Given the description of an element on the screen output the (x, y) to click on. 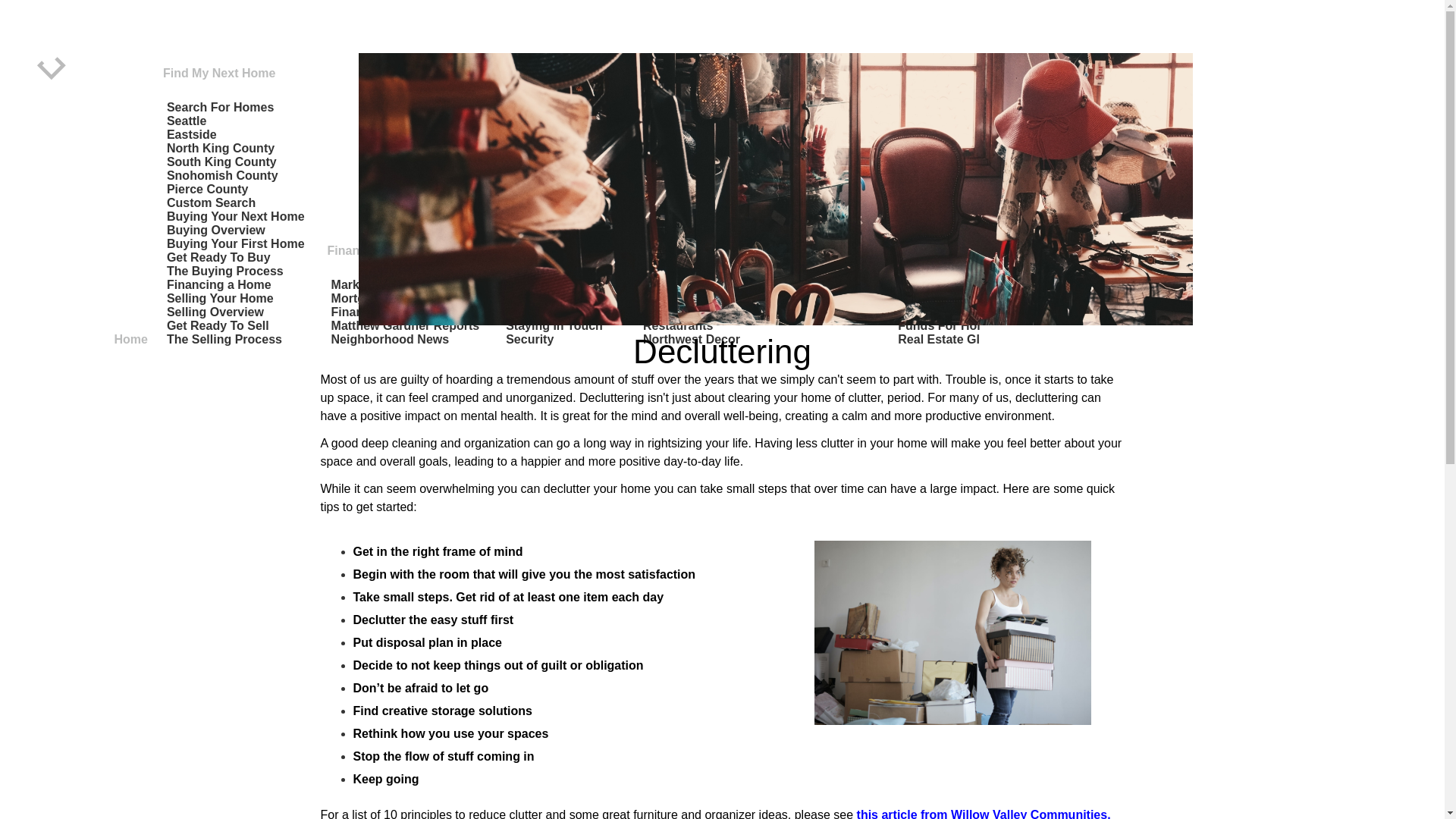
Interesting Things To Do in Washington (758, 312)
Seattle (188, 120)
North King County (222, 148)
Staying In Touch (556, 325)
Explore Washington (702, 284)
Search For Homes (221, 107)
Home (130, 341)
Northwest Decor (693, 339)
Pierce County (209, 189)
Custom Search (212, 202)
Clutter3 (952, 632)
Owning a Home (553, 271)
Financial Calculators (394, 312)
Financing a Home (220, 284)
Restaurants (679, 325)
